Given the description of an element on the screen output the (x, y) to click on. 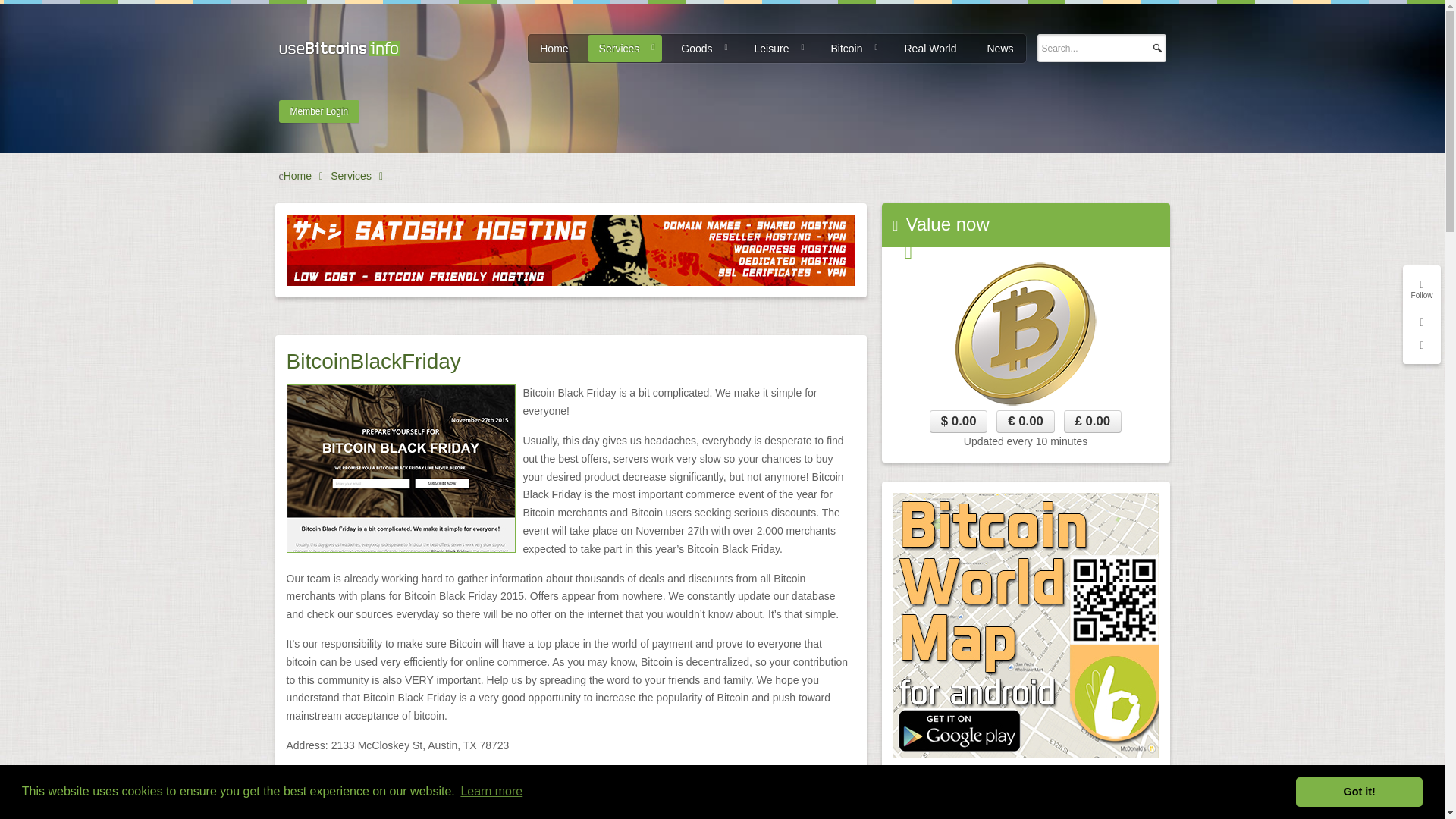
Got it! (1358, 791)
Services (625, 48)
Home (553, 48)
Learn more (491, 791)
